Given the description of an element on the screen output the (x, y) to click on. 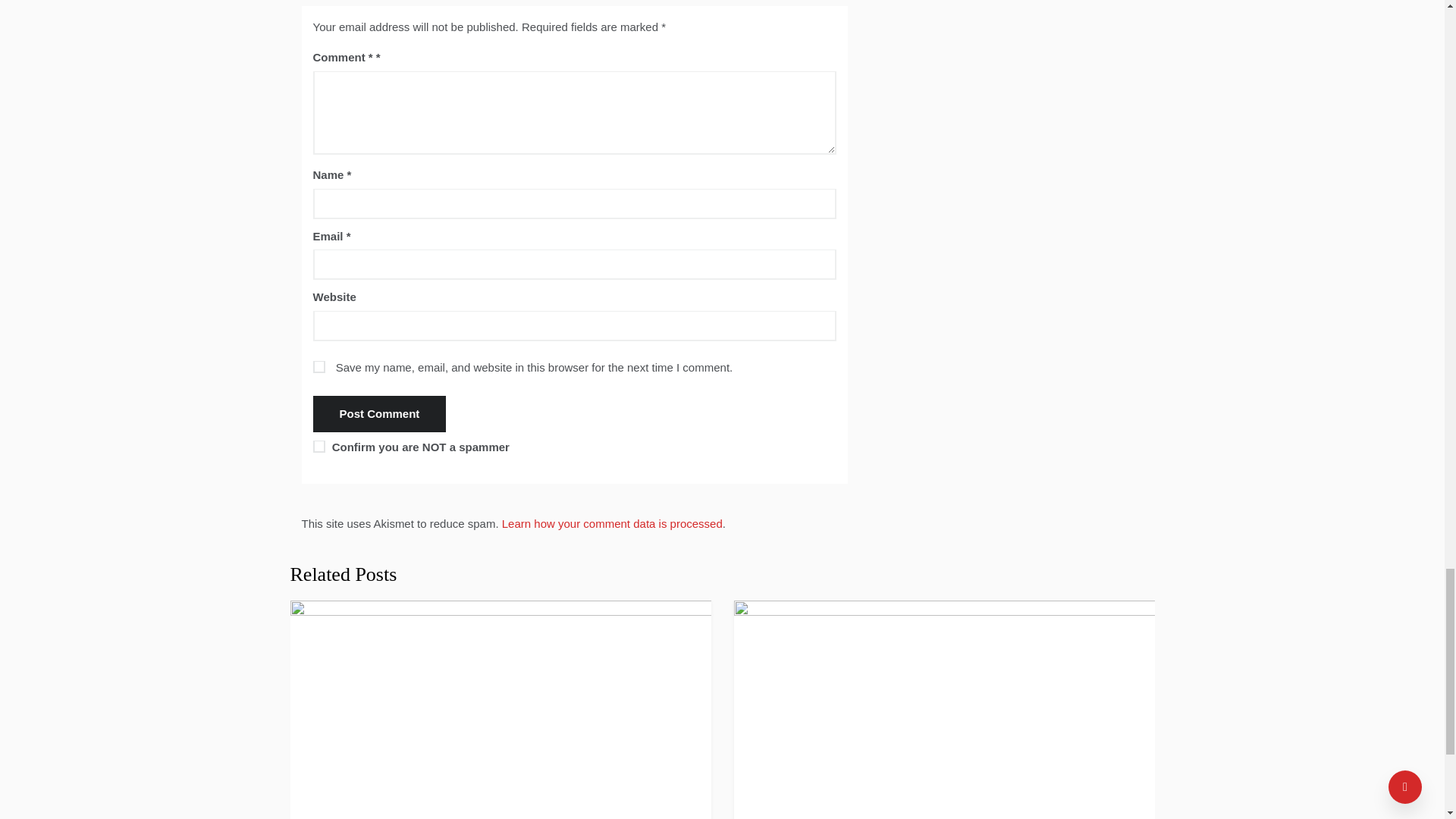
Post Comment (379, 413)
Post Comment (379, 413)
Learn how your comment data is processed (612, 522)
yes (318, 367)
on (318, 446)
